Given the description of an element on the screen output the (x, y) to click on. 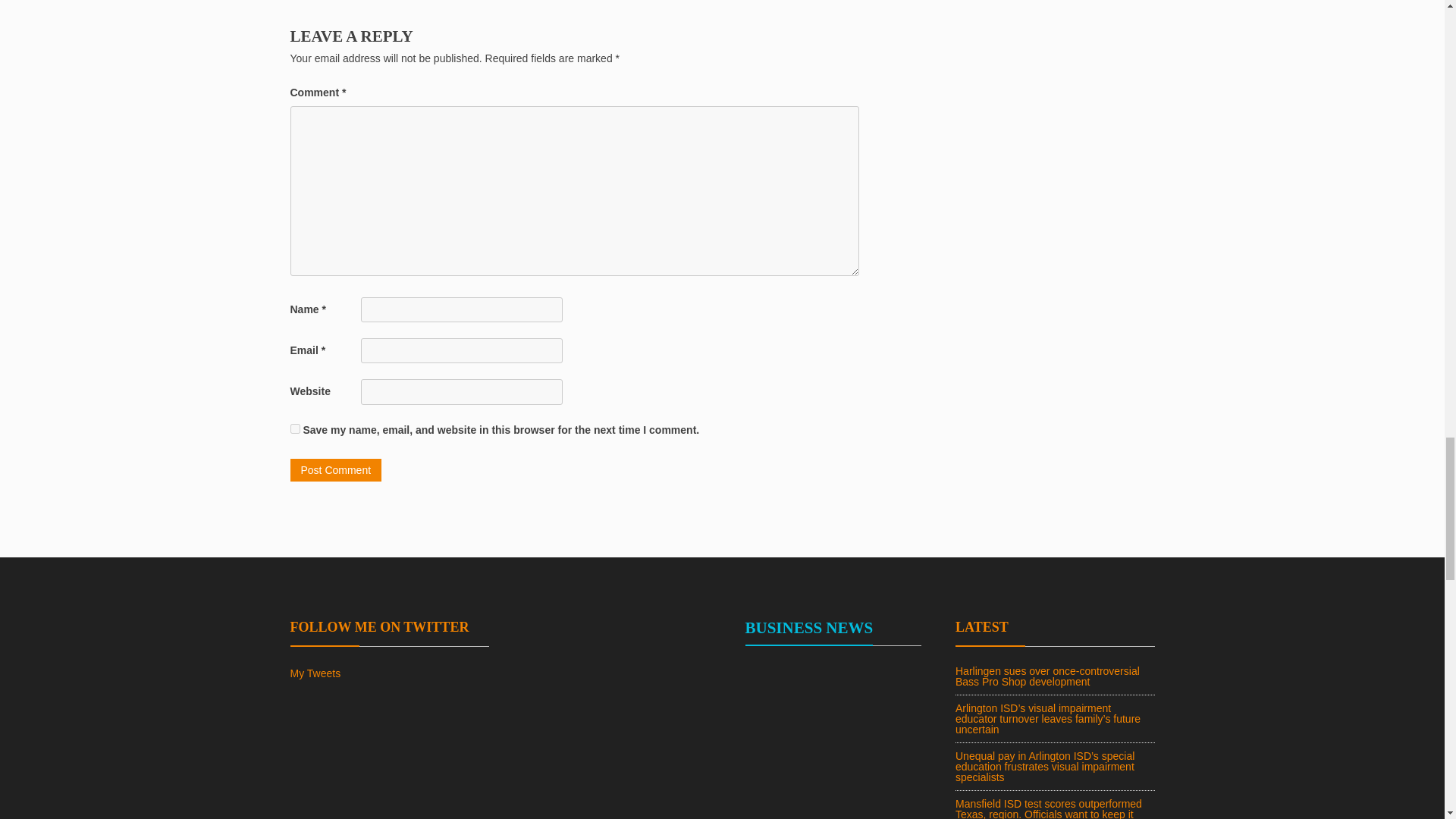
Post Comment (335, 469)
yes (294, 429)
